Given the description of an element on the screen output the (x, y) to click on. 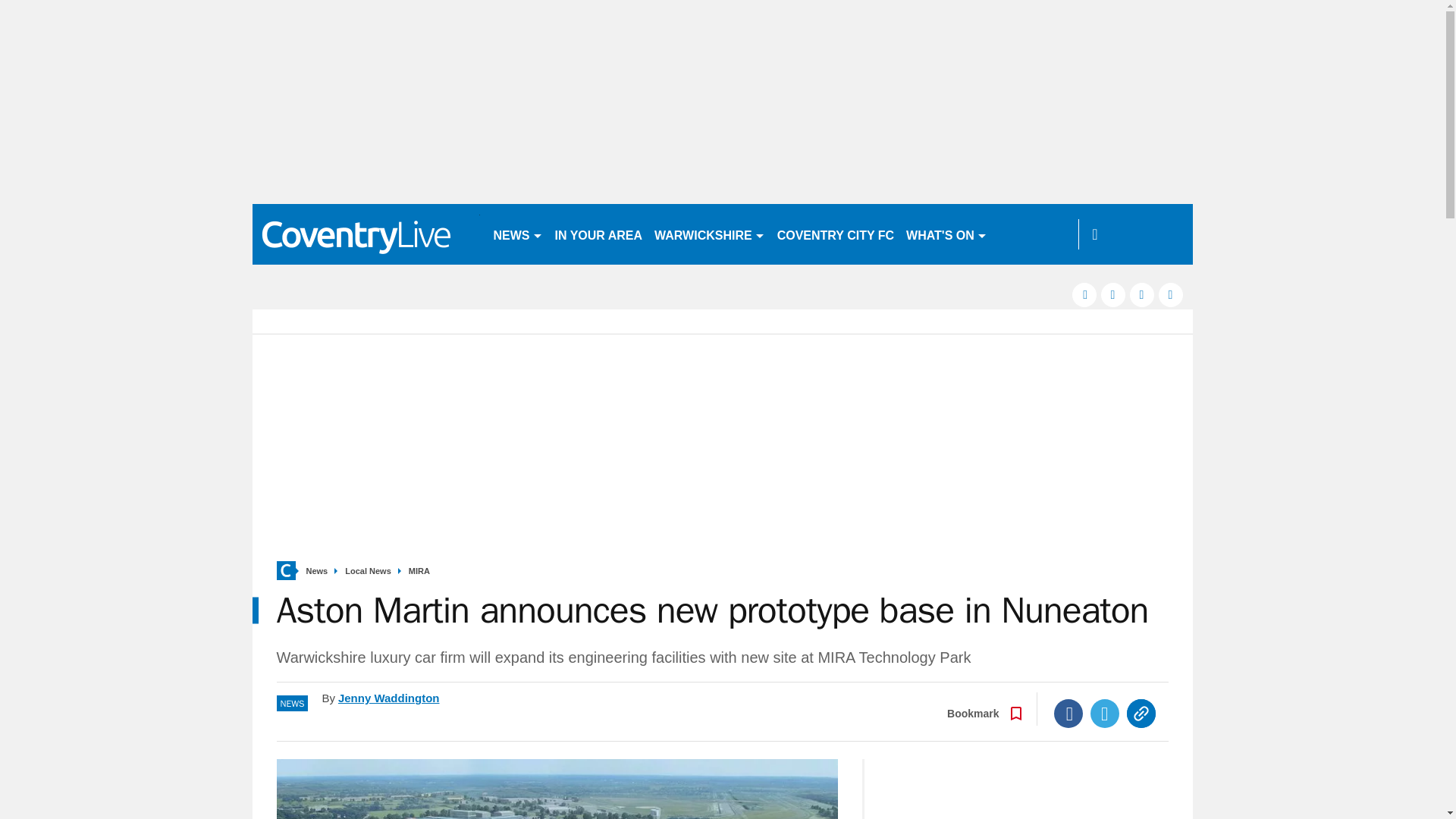
pinterest (1141, 294)
NEWS (517, 233)
COVENTRY CITY FC (835, 233)
WARWICKSHIRE (709, 233)
facebook (1083, 294)
twitter (1112, 294)
WASPS RFC (1034, 233)
Facebook (1068, 713)
coventrytelegraph (365, 233)
instagram (1170, 294)
